Given the description of an element on the screen output the (x, y) to click on. 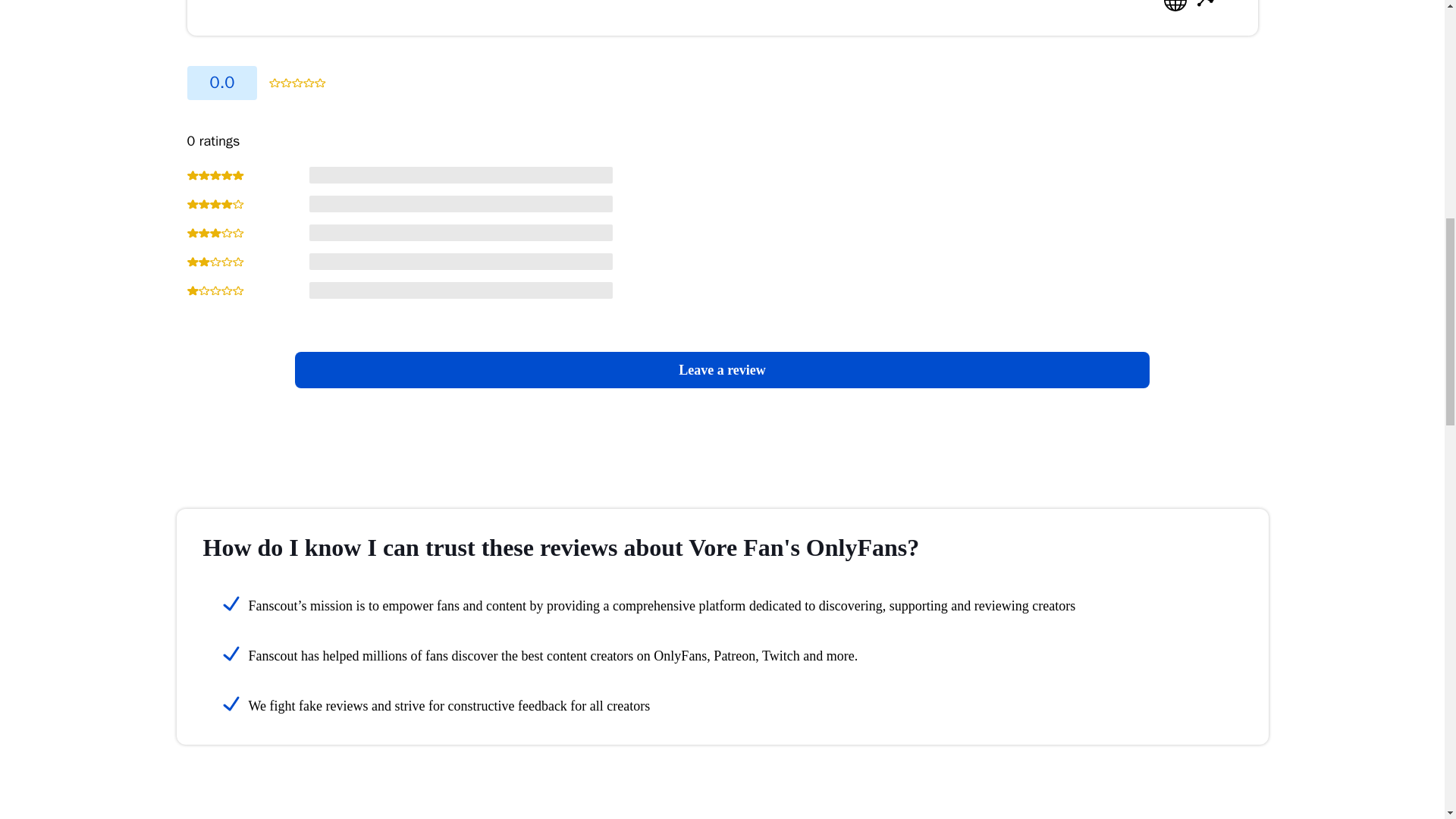
Leave a review (721, 370)
